Given the description of an element on the screen output the (x, y) to click on. 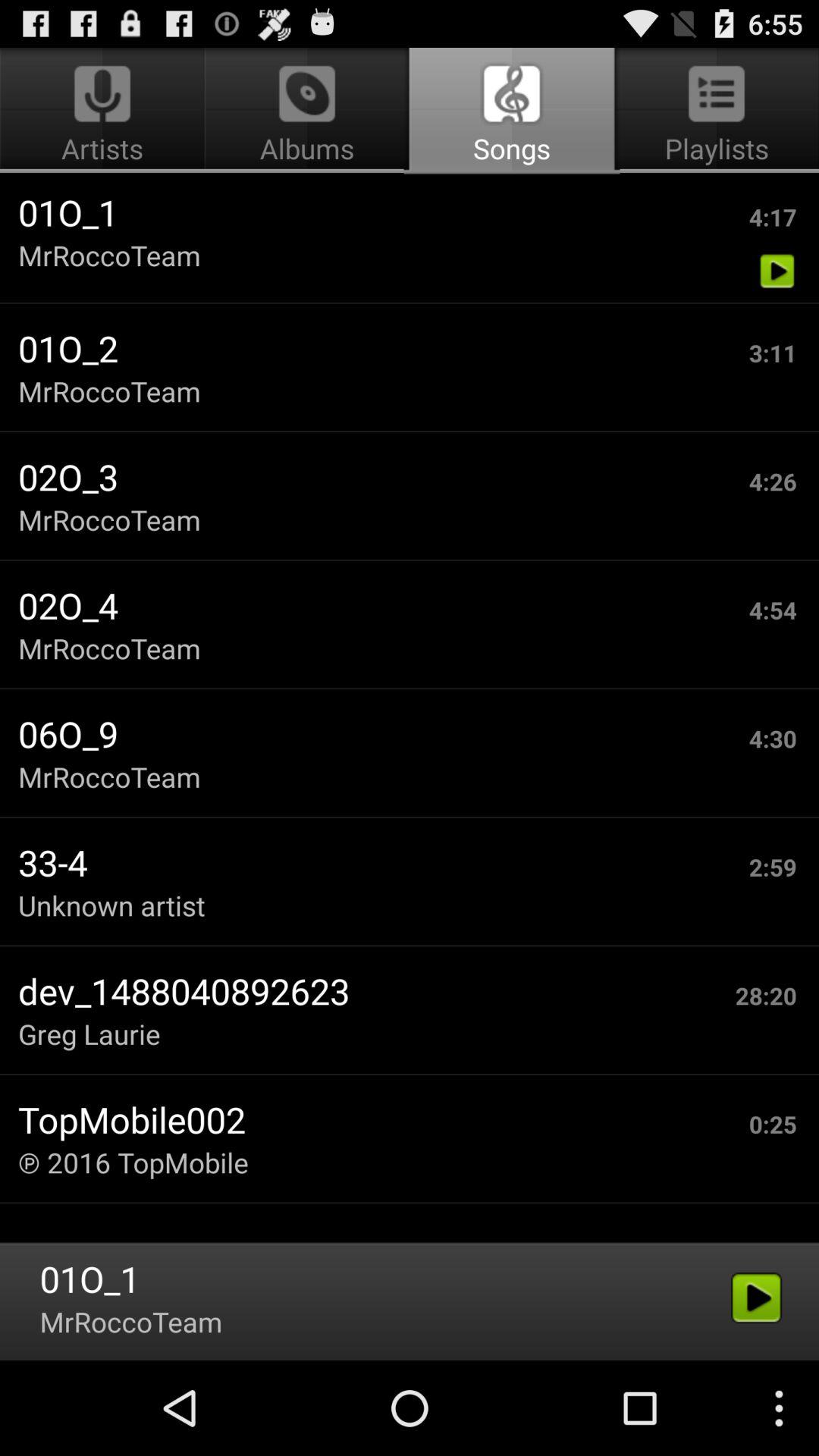
tap the playlists item (713, 111)
